Given the description of an element on the screen output the (x, y) to click on. 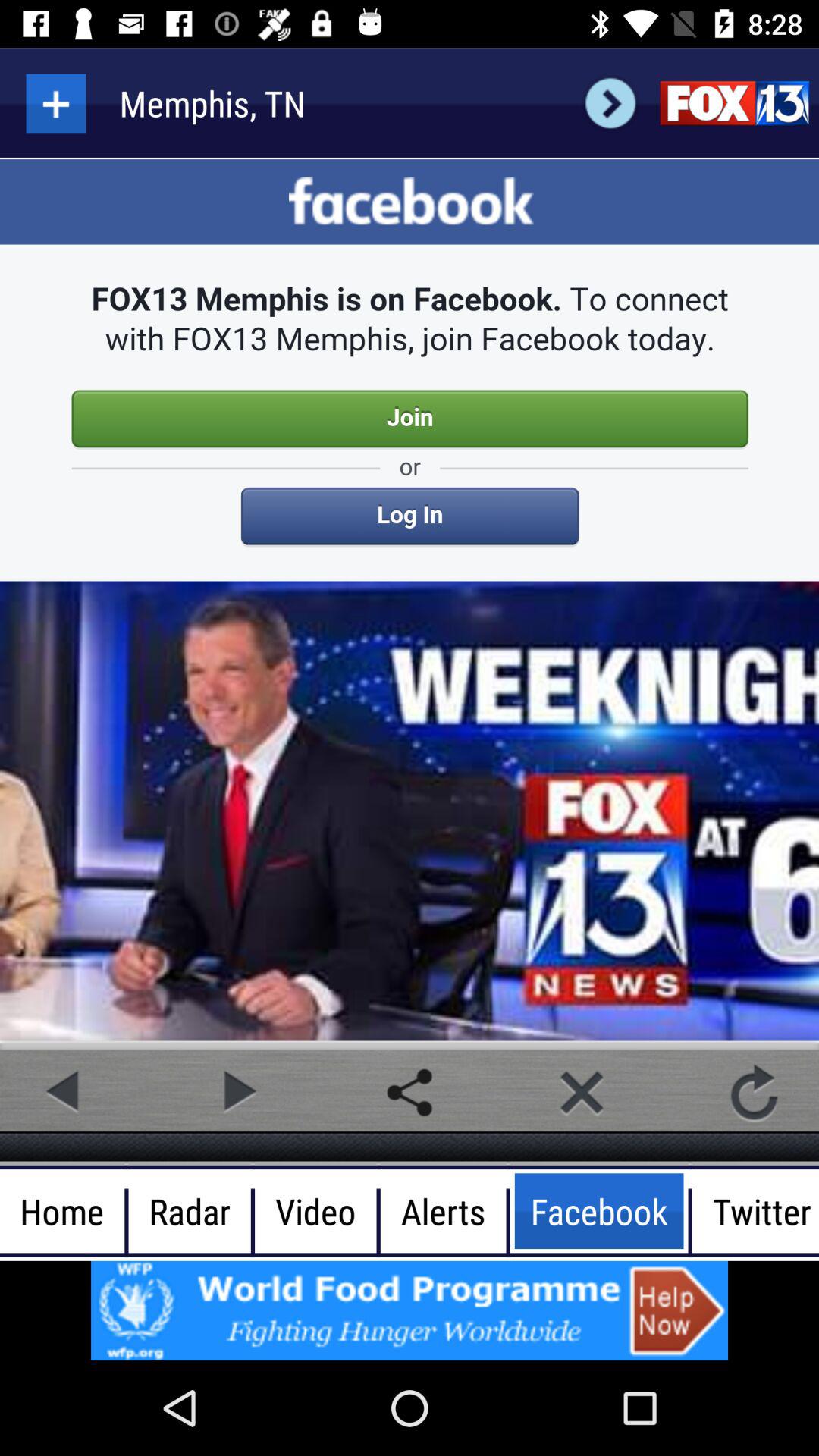
select advertisement (409, 1310)
